Given the description of an element on the screen output the (x, y) to click on. 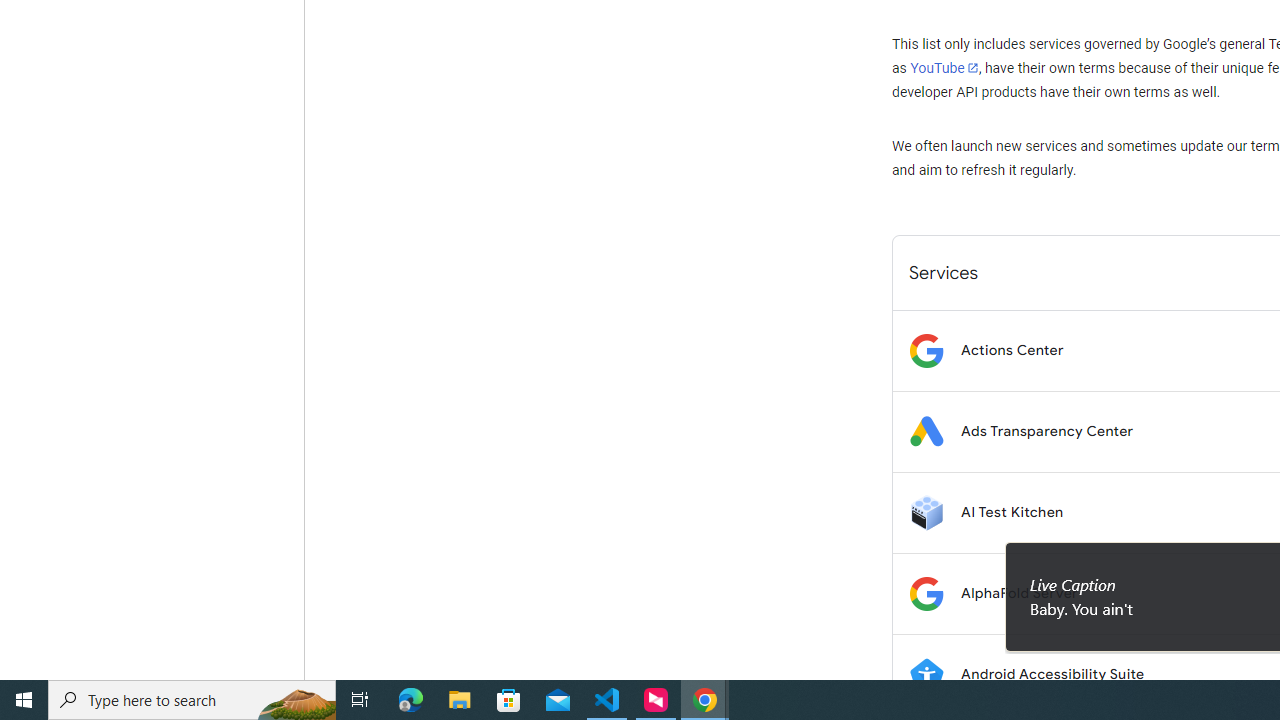
Logo for Actions Center (926, 349)
Logo for Ads Transparency Center (926, 431)
YouTube (944, 68)
Logo for Android Accessibility Suite (926, 673)
Logo for AlphaFold Server (926, 593)
Logo for AI Test Kitchen (926, 512)
